Given the description of an element on the screen output the (x, y) to click on. 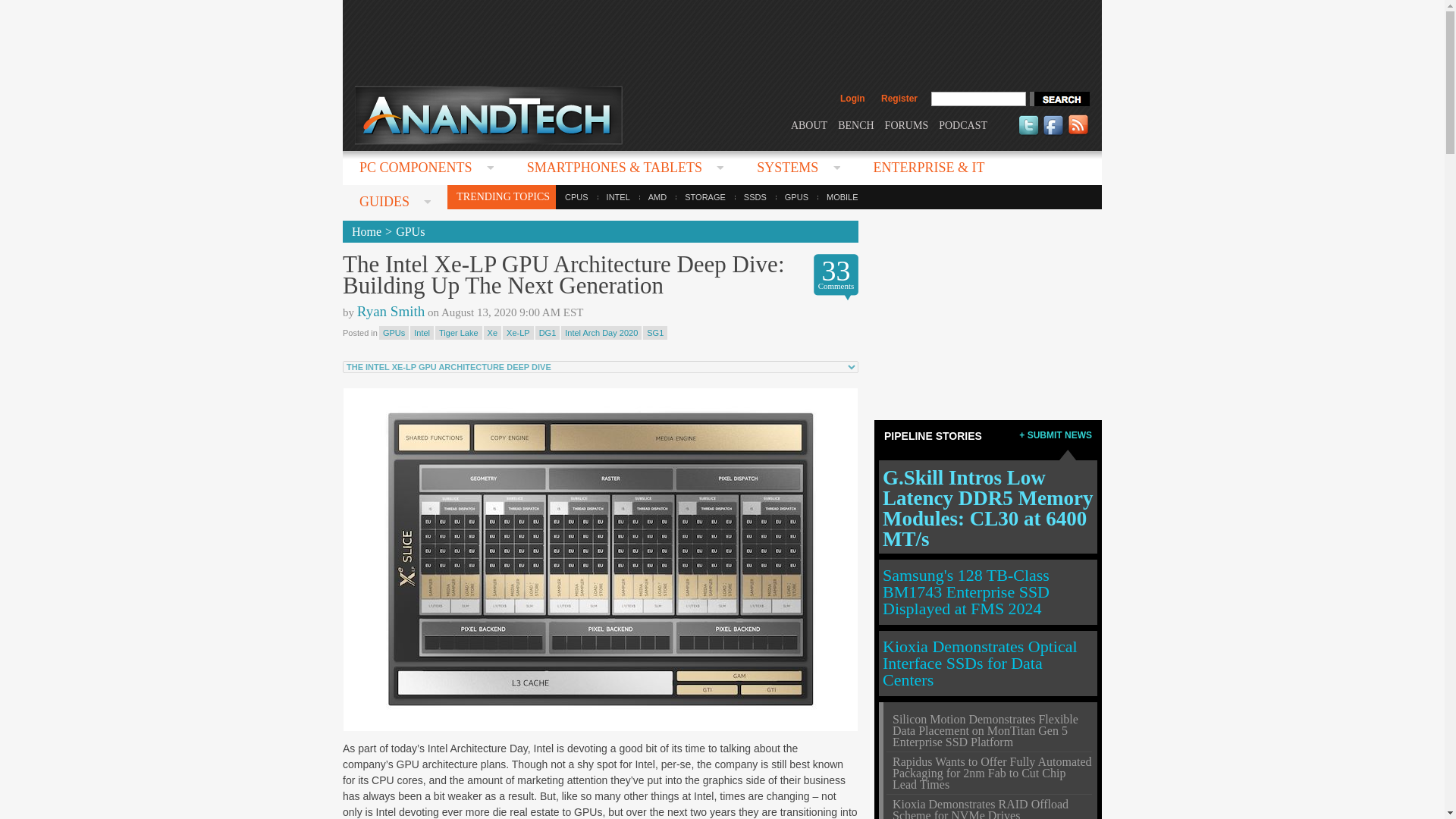
search (1059, 98)
BENCH (855, 125)
PODCAST (963, 125)
ABOUT (808, 125)
FORUMS (906, 125)
search (1059, 98)
Register (898, 98)
search (1059, 98)
Login (852, 98)
